Given the description of an element on the screen output the (x, y) to click on. 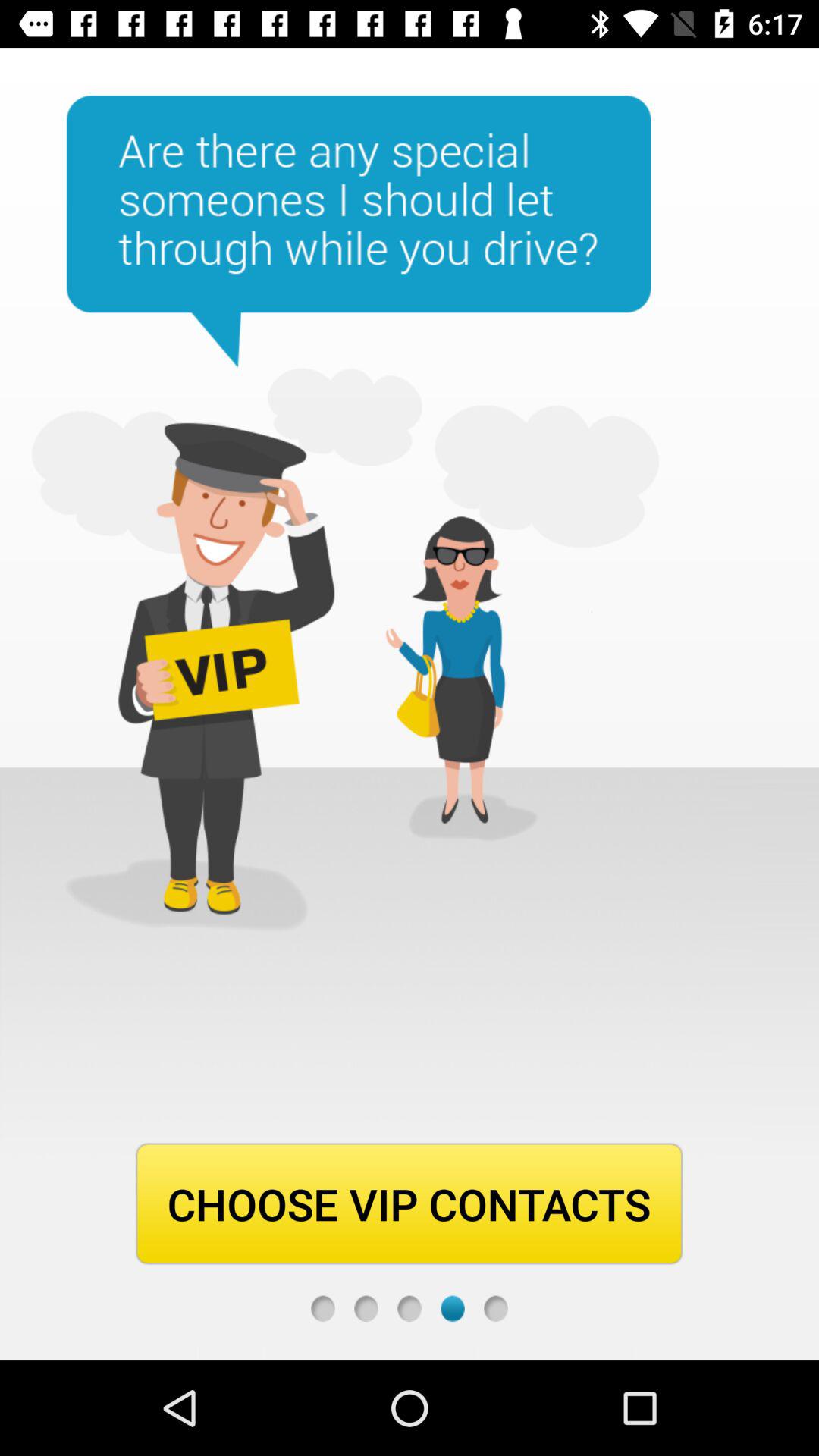
go to next (452, 1308)
